Given the description of an element on the screen output the (x, y) to click on. 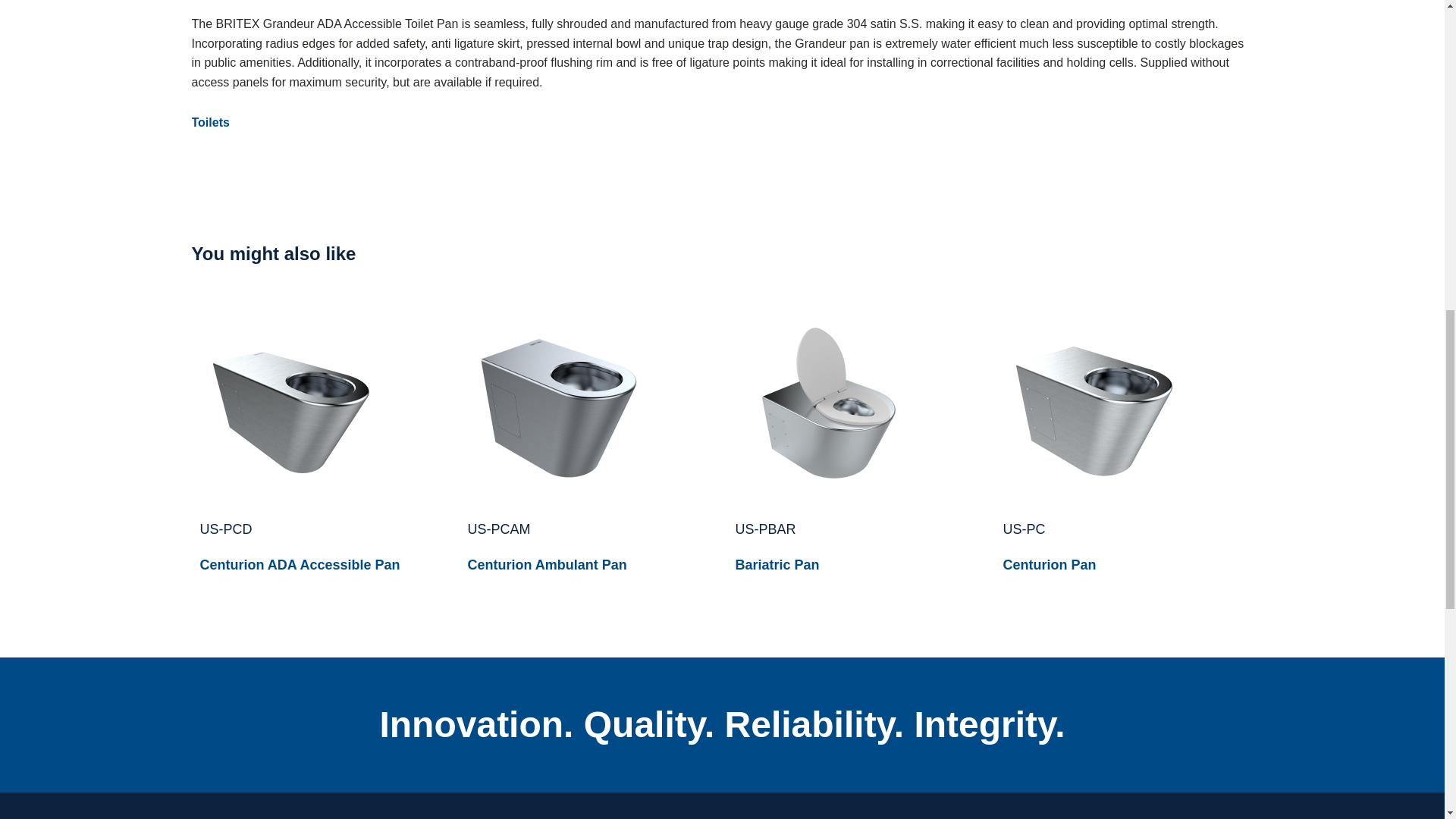
US-PCAM (498, 528)
US-PC (1024, 528)
US-PCD (225, 528)
US-PBAR (765, 528)
